Given the description of an element on the screen output the (x, y) to click on. 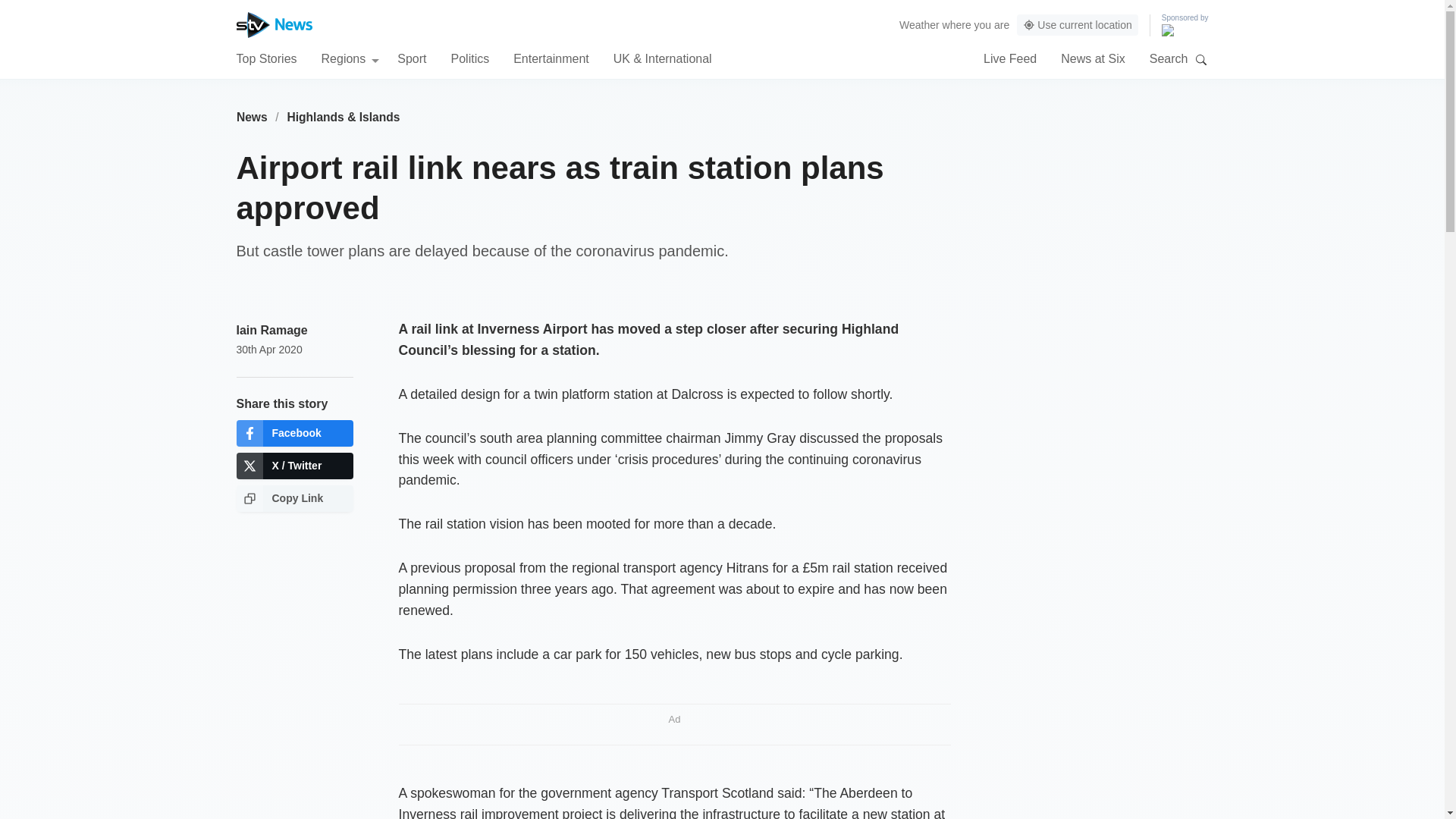
Iain Ramage (271, 329)
News (252, 116)
Use current location (1077, 25)
Regions (350, 57)
Weather (919, 24)
Top Stories (266, 57)
Live Feed (1010, 57)
Search (1201, 59)
Entertainment (551, 57)
News at Six (1092, 57)
